Given the description of an element on the screen output the (x, y) to click on. 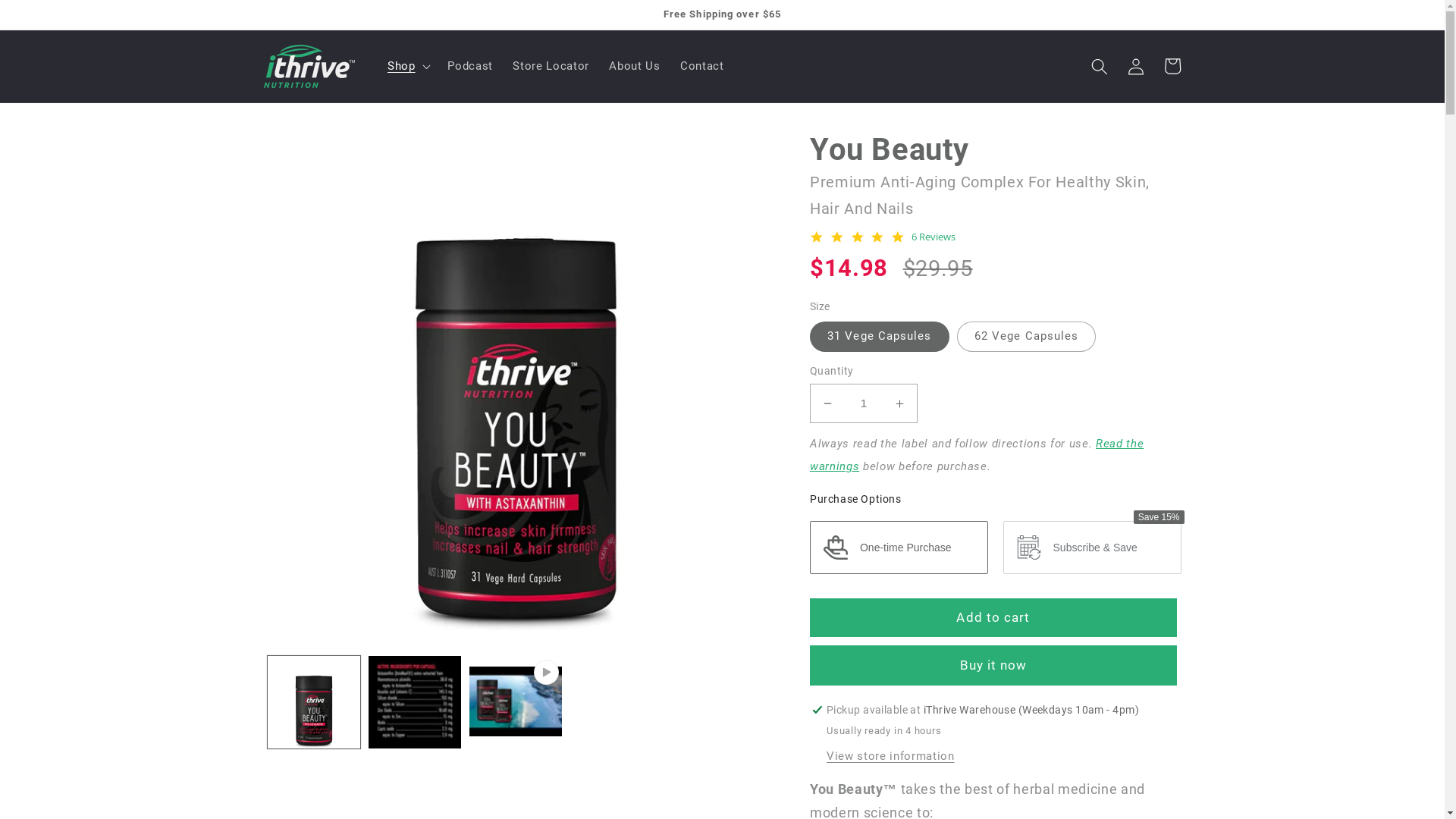
One-time Purchase Element type: text (898, 547)
Contact Element type: text (702, 66)
Save 15%
Subscribe & Save Element type: text (1092, 547)
View store information Element type: text (890, 756)
Log in Element type: text (1135, 65)
Cart Element type: text (1172, 65)
Podcast Element type: text (469, 66)
Add to cart Element type: text (992, 617)
Skip to product information Element type: text (313, 149)
6 Reviews Element type: text (933, 237)
Store Locator Element type: text (550, 66)
Decrease quantity for You Beauty Element type: text (827, 403)
Read the warnings Element type: text (976, 454)
Buy it now Element type: text (992, 665)
About Us Element type: text (634, 66)
Increase quantity for You Beauty Element type: text (899, 403)
